Given the description of an element on the screen output the (x, y) to click on. 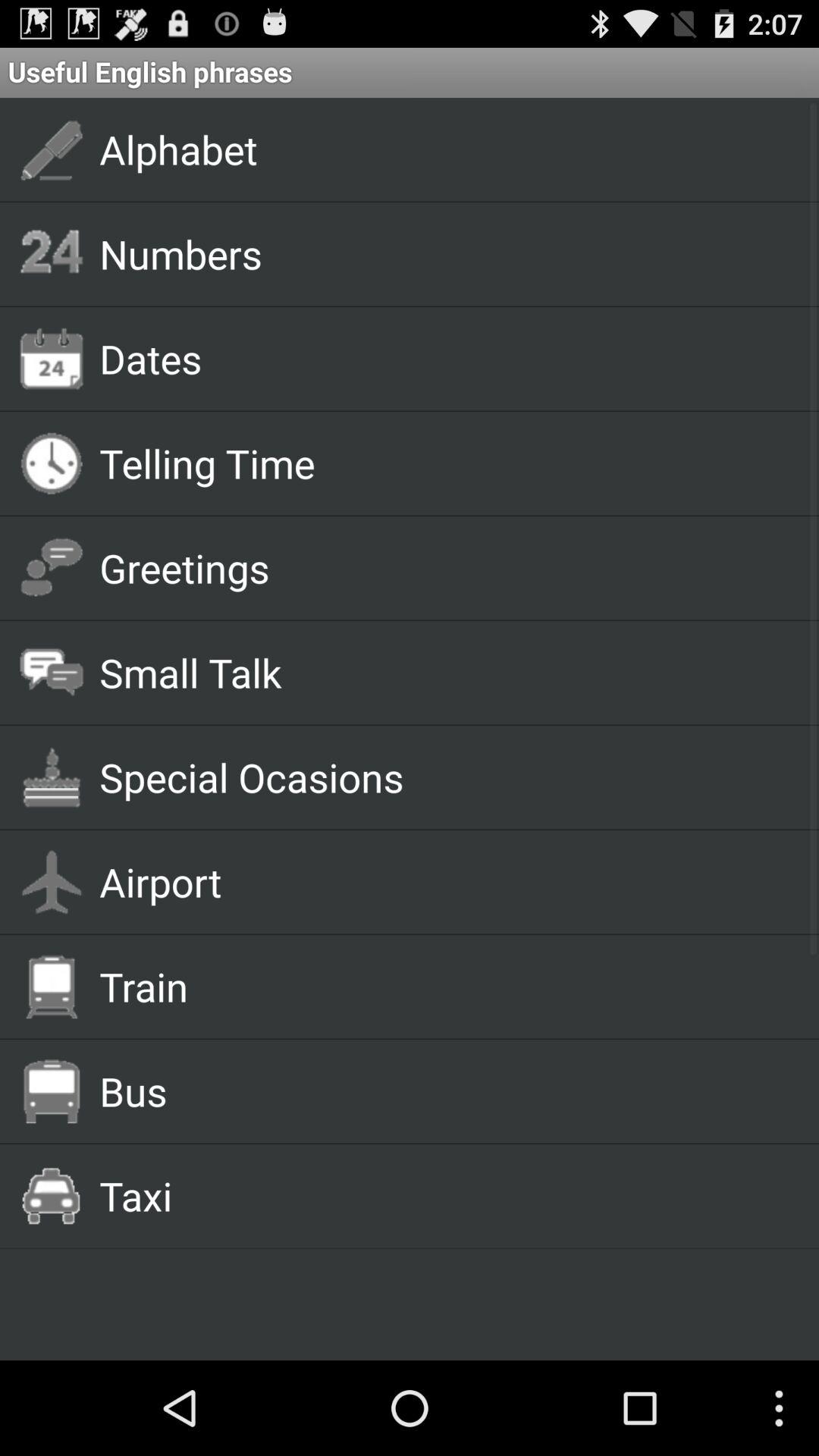
scroll until the alphabet app (441, 148)
